Given the description of an element on the screen output the (x, y) to click on. 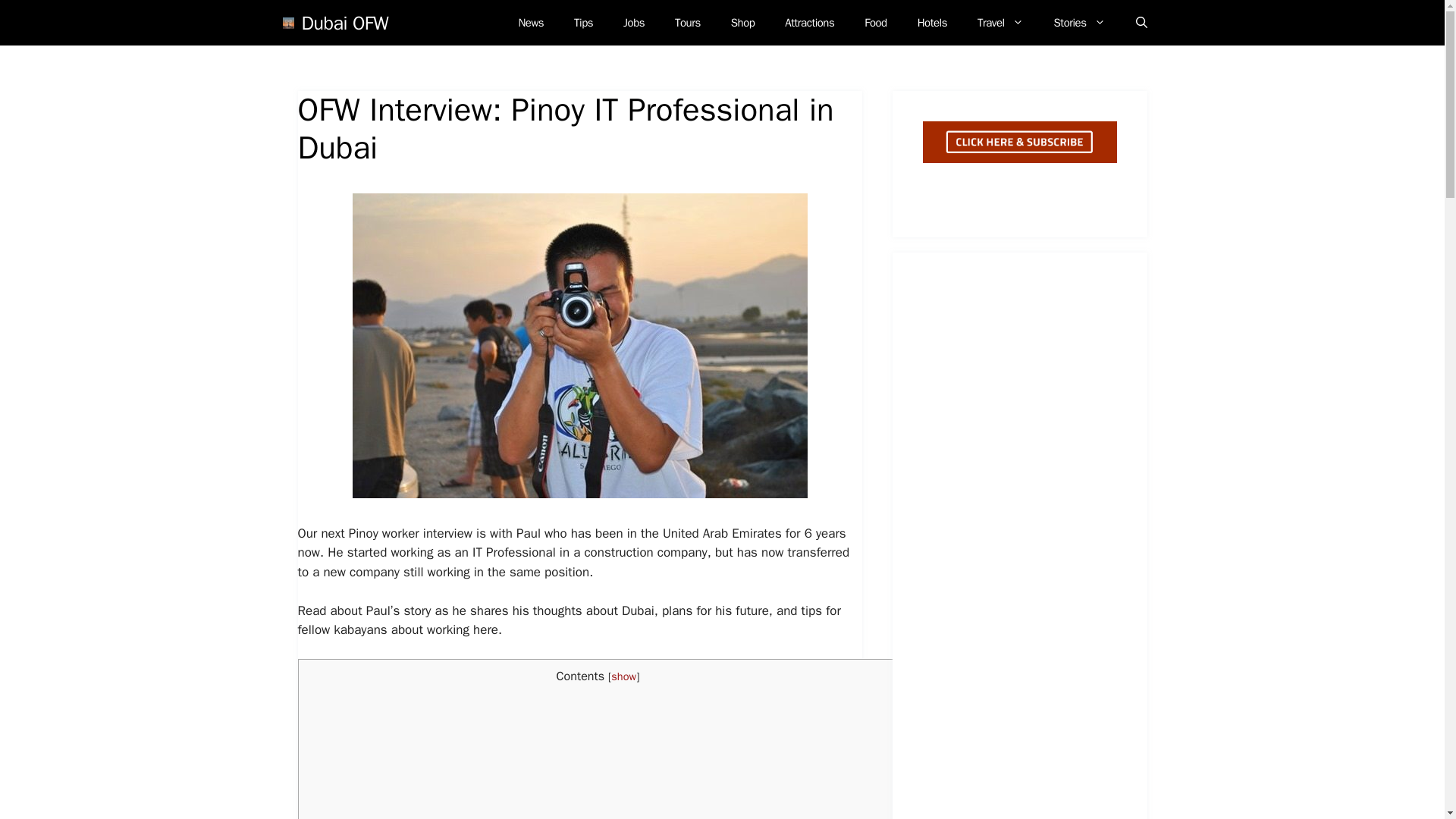
Dubai OFW (344, 22)
Restaurants in Dubai (874, 22)
Hotel Staycation Experiences (932, 22)
Book a Tour to Attractions in Dubai (687, 22)
Travelling Beyond Dubai (1000, 22)
